Given the description of an element on the screen output the (x, y) to click on. 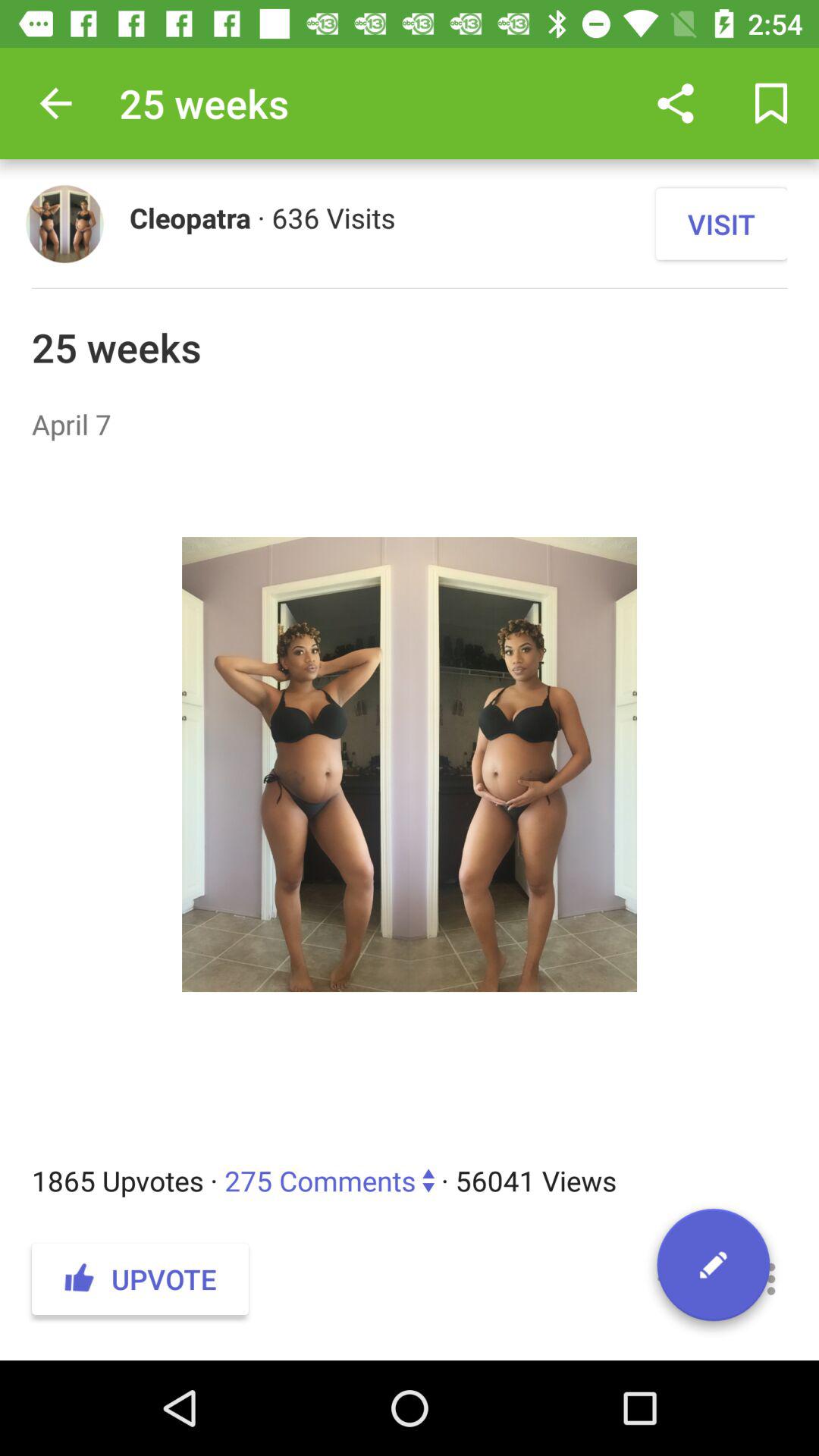
flip until visit (721, 223)
